Given the description of an element on the screen output the (x, y) to click on. 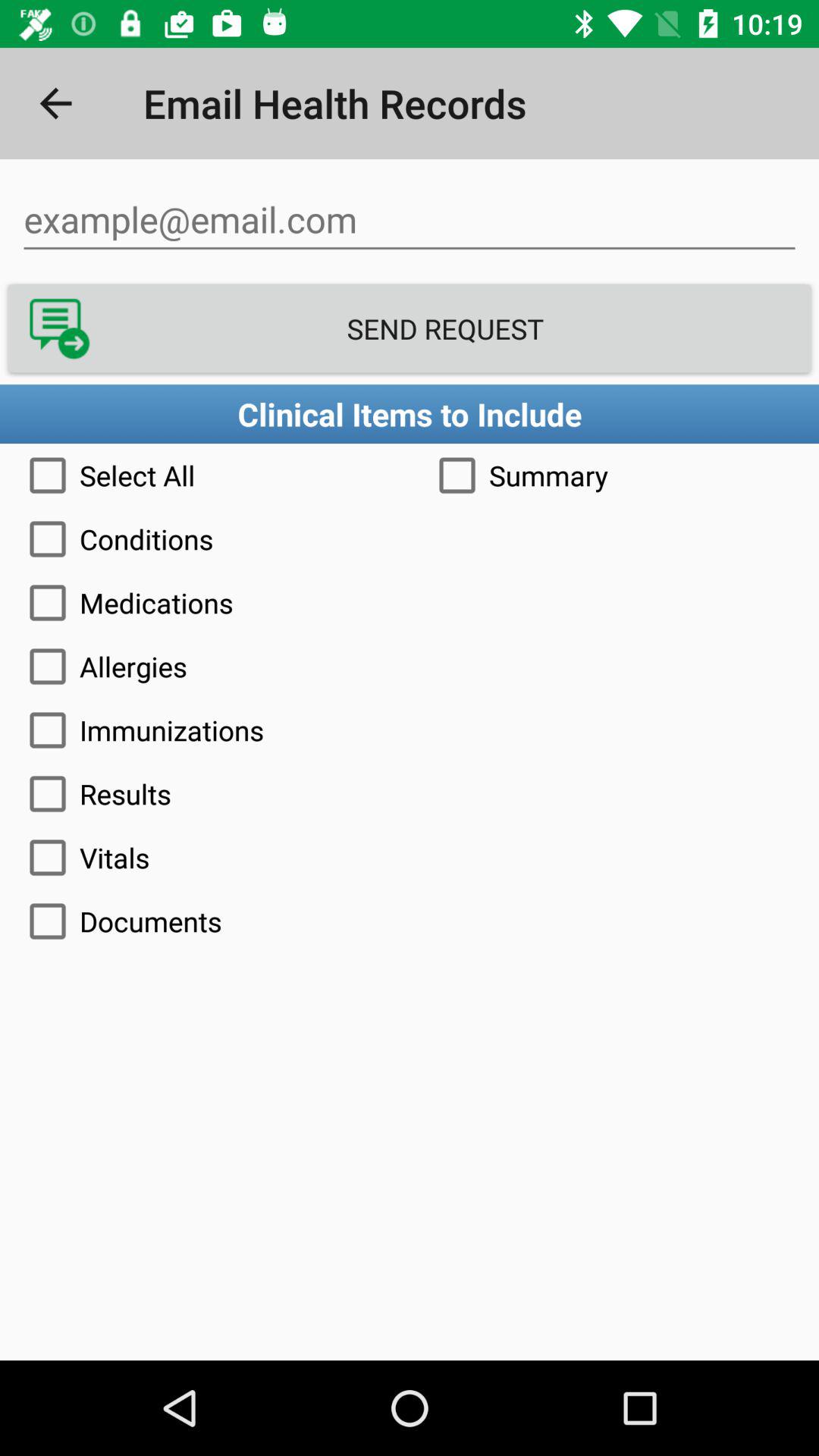
email field (409, 220)
